Given the description of an element on the screen output the (x, y) to click on. 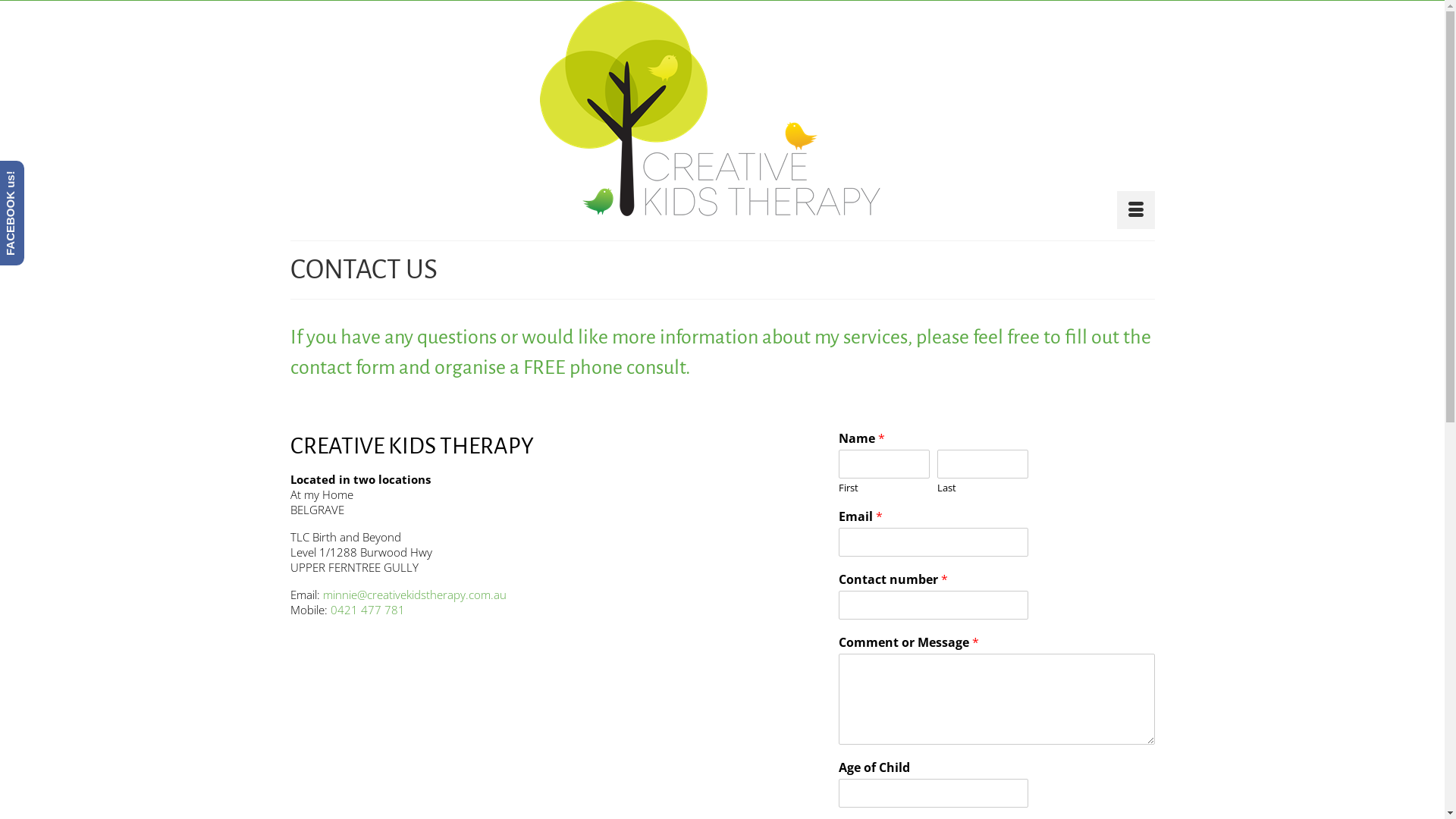
Creative kids therapy Element type: hover (721, 114)
0421 477 781 Element type: text (367, 609)
minnie@creativekidstherapy.com.au Element type: text (414, 594)
